Given the description of an element on the screen output the (x, y) to click on. 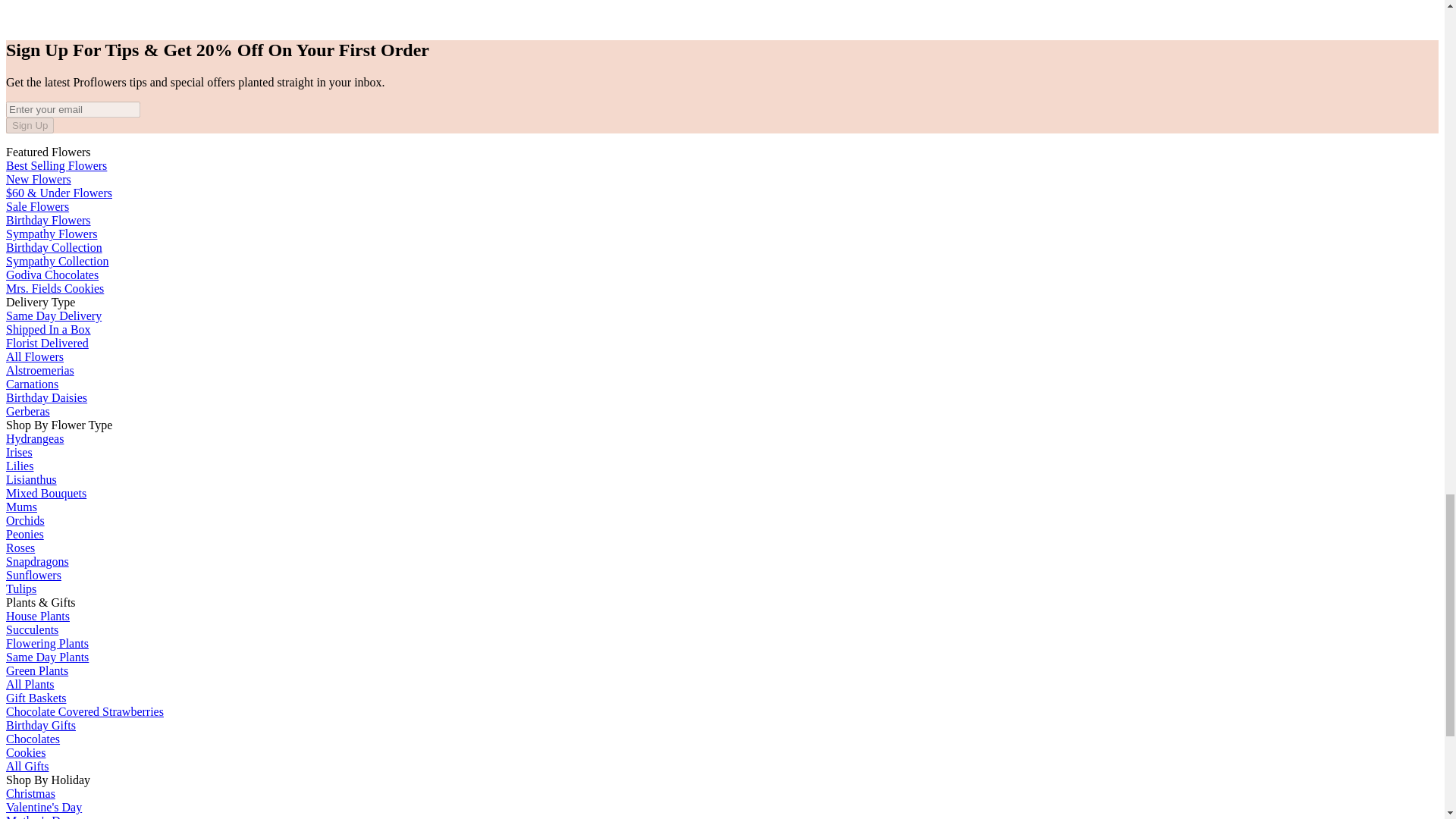
Sign Up (29, 125)
Sympathy Collection (57, 260)
Birthday Collection (53, 246)
Sympathy Flowers (51, 233)
Sale Flowers (36, 205)
Shipped In a Box (47, 328)
Same Day Delivery (53, 315)
Florist Delivered (46, 342)
Best Selling Flowers (55, 164)
Mrs. Fields Cookies (54, 287)
New Flowers (38, 178)
Birthday Flowers (47, 219)
Godiva Chocolates (52, 274)
